Given the description of an element on the screen output the (x, y) to click on. 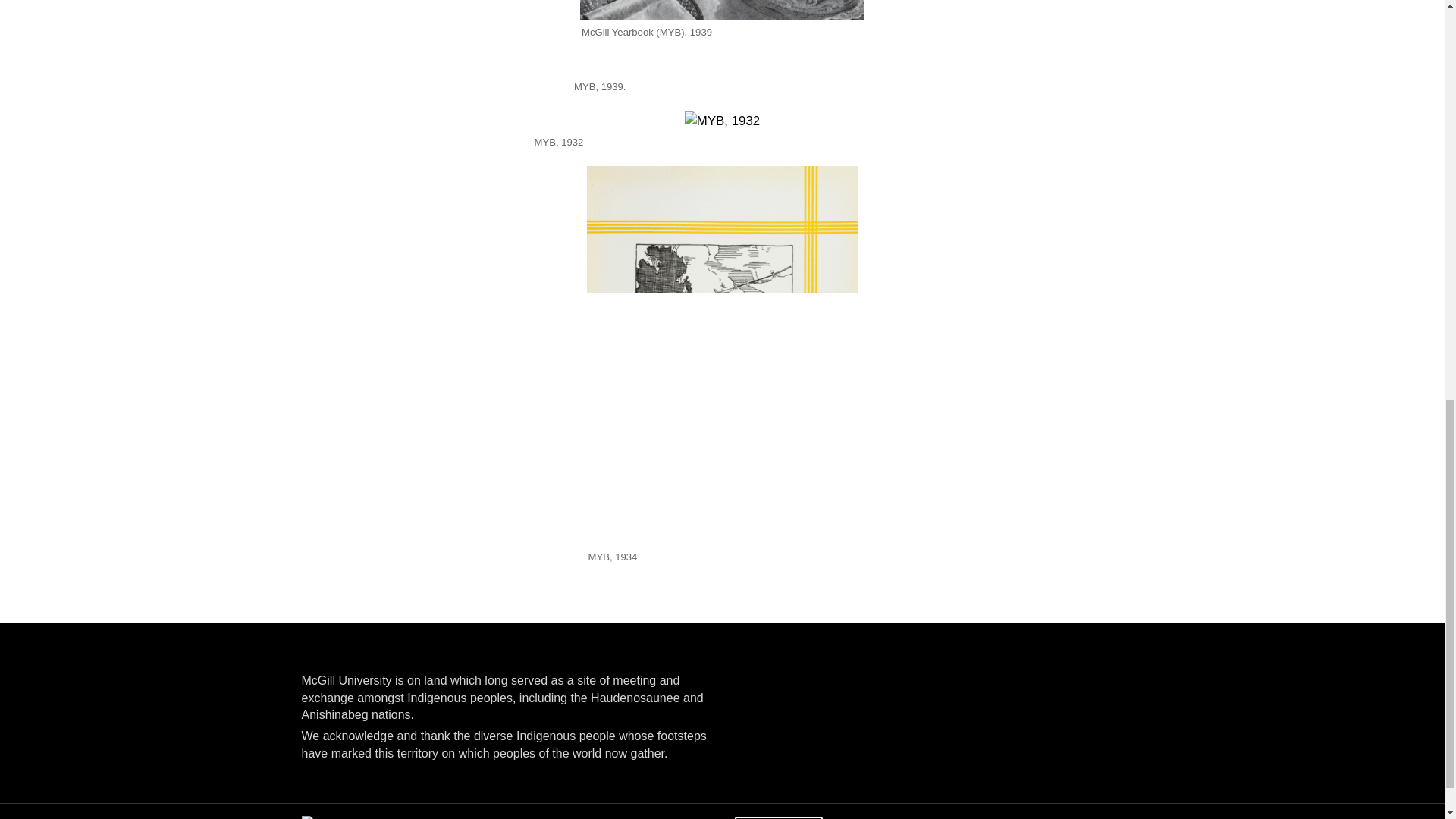
Cookie settings (778, 817)
